Given the description of an element on the screen output the (x, y) to click on. 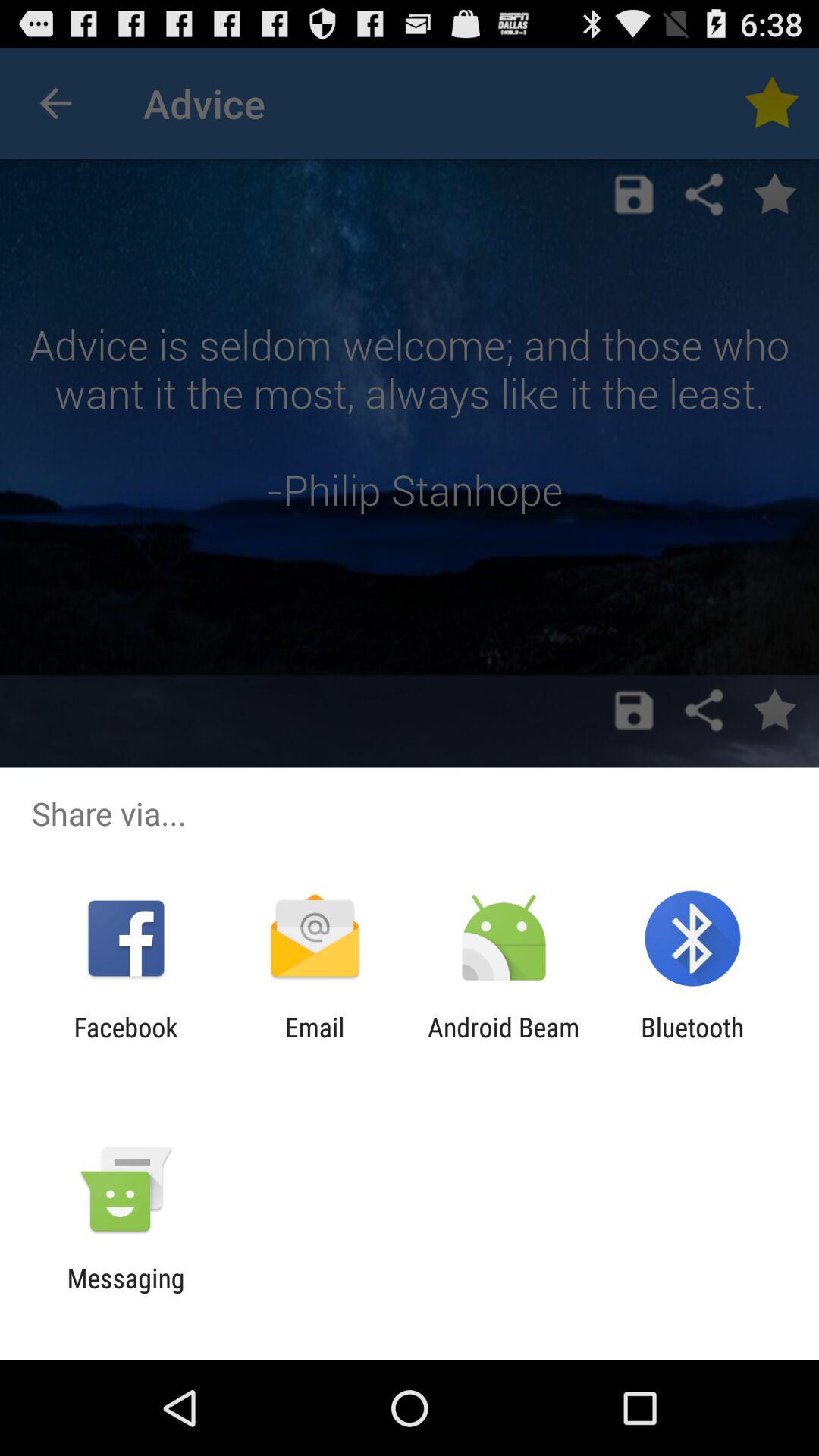
turn on the icon to the right of facebook app (314, 1042)
